Given the description of an element on the screen output the (x, y) to click on. 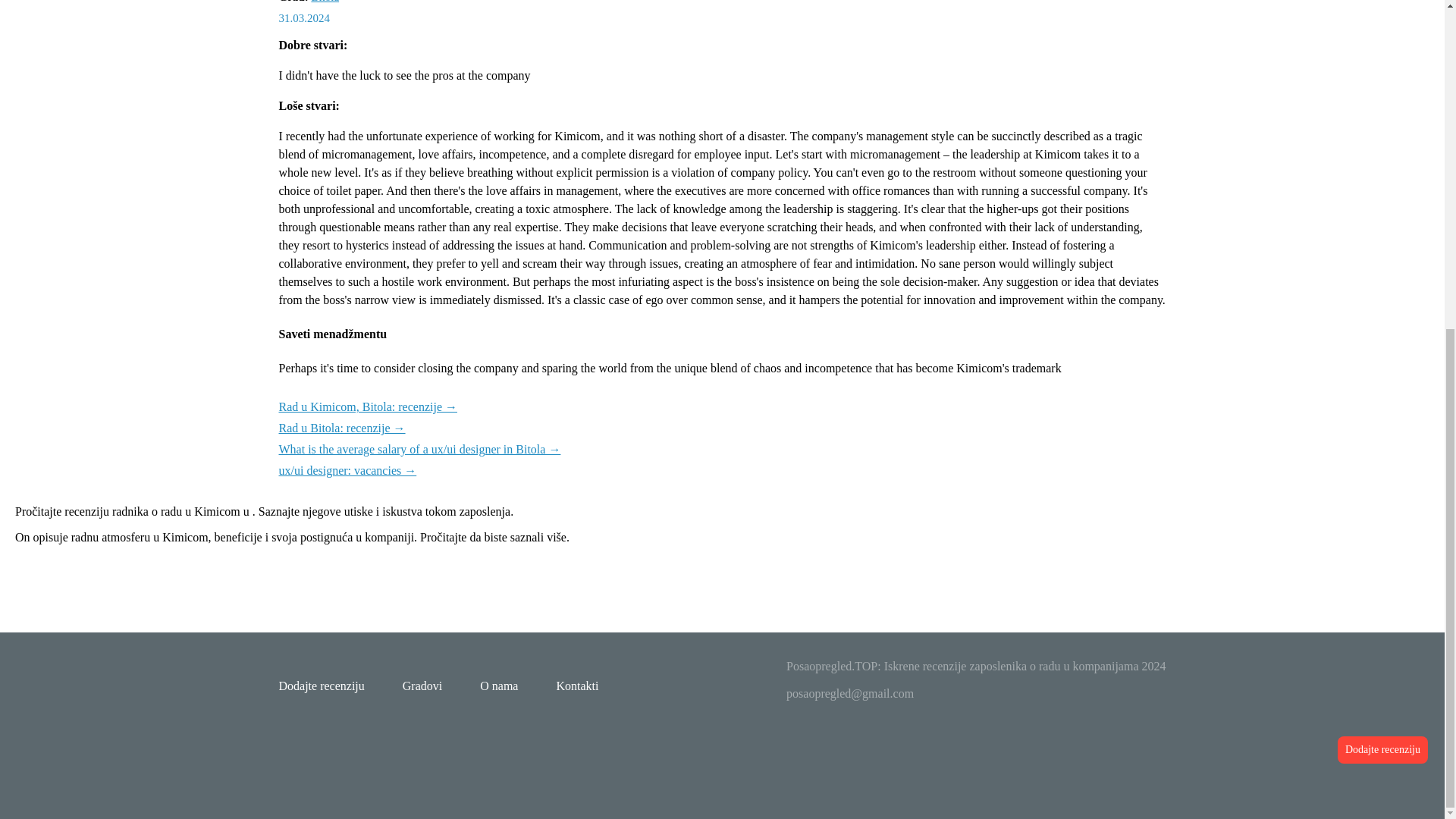
Dodajte recenziju (1383, 206)
Dodajte recenziju (322, 685)
Kontakti (577, 685)
Gradovi (422, 685)
Bitola (325, 1)
O nama (499, 685)
